Given the description of an element on the screen output the (x, y) to click on. 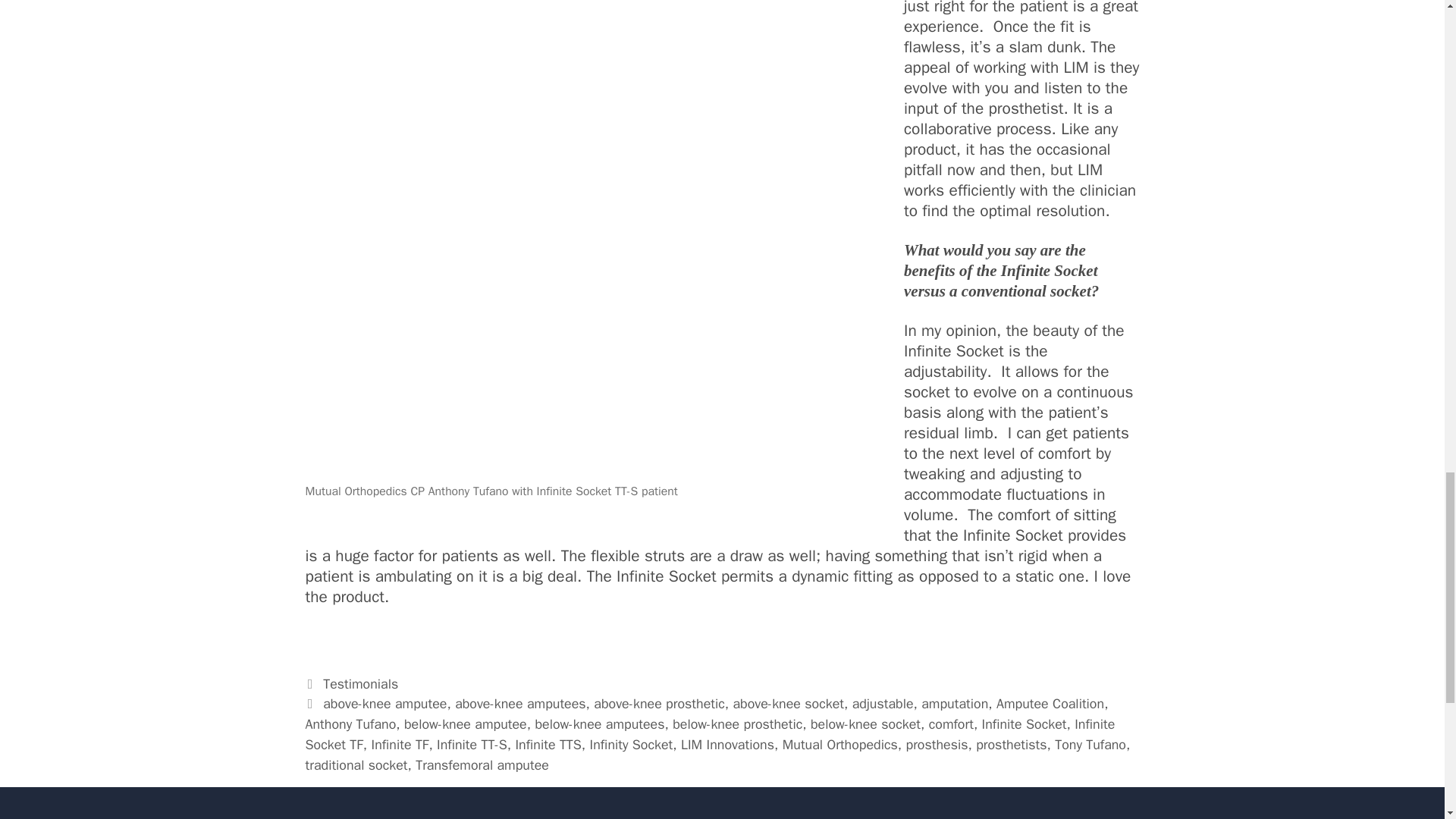
comfort (951, 723)
Infinite TT-S (471, 744)
LIM Innovations (727, 744)
Anthony Tufano (350, 723)
amputation (954, 703)
prosthetists (1010, 744)
below-knee amputee (465, 723)
above-knee prosthetic (658, 703)
traditional socket (355, 764)
Infinite TTS (547, 744)
